Given the description of an element on the screen output the (x, y) to click on. 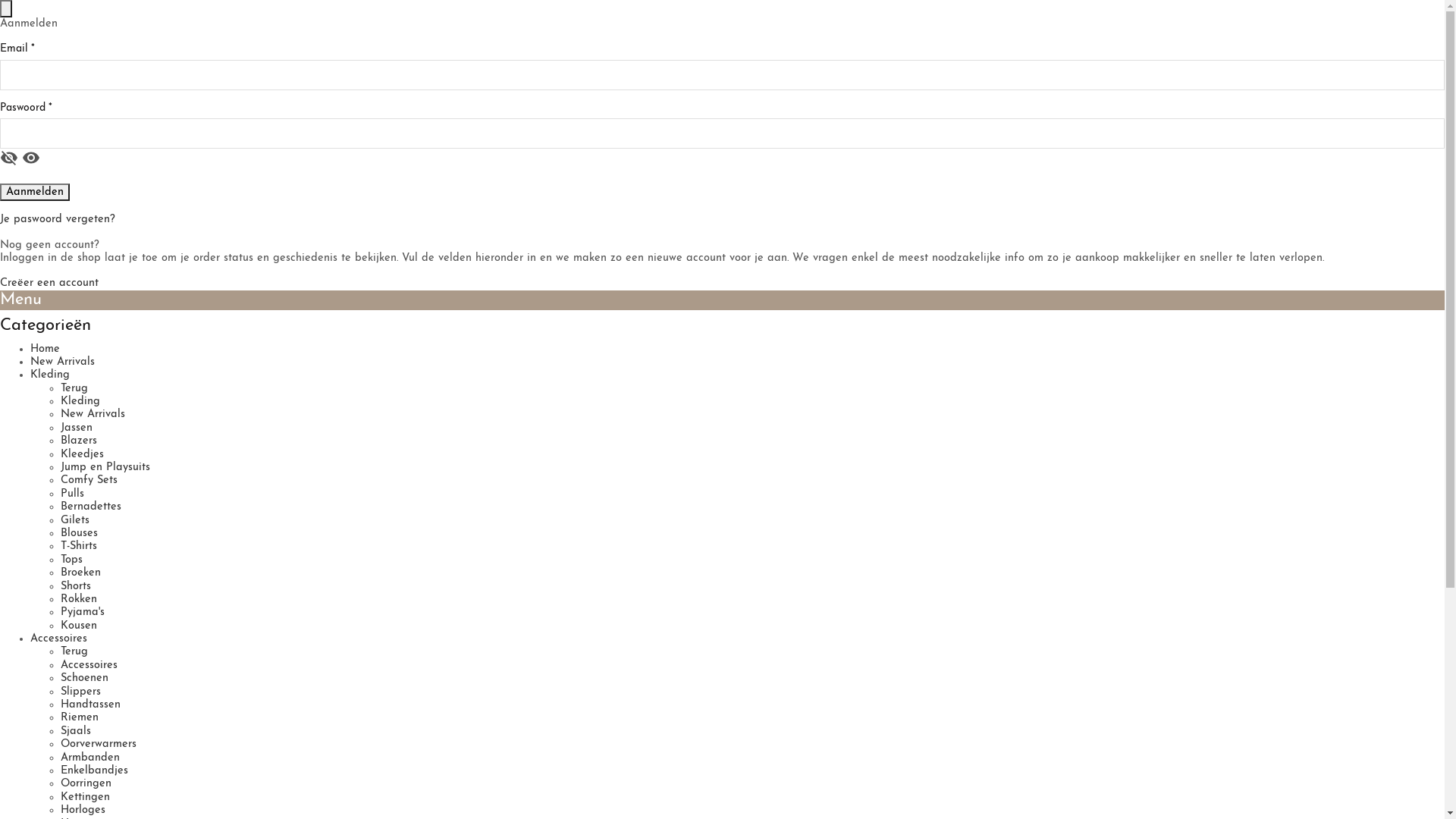
Horloges Element type: text (82, 809)
Handtassen Element type: text (90, 704)
Sjaals Element type: text (75, 731)
Accessoires Element type: text (88, 665)
Armbanden Element type: text (89, 757)
Gilets Element type: text (74, 520)
Accessoires Element type: text (58, 638)
Aanmelden Element type: text (34, 191)
Riemen Element type: text (79, 717)
Slippers Element type: text (80, 691)
Je paswoord vergeten? Element type: text (57, 219)
Rokken Element type: text (78, 599)
Kleedjes Element type: text (81, 454)
Comfy Sets Element type: text (88, 480)
Jassen Element type: text (76, 427)
Kousen Element type: text (78, 625)
Kettingen Element type: text (84, 797)
Kleding Element type: text (49, 374)
Kleding Element type: text (80, 401)
Terug Element type: text (73, 651)
New Arrivals Element type: text (62, 361)
Terug Element type: text (73, 388)
Enkelbandjes Element type: text (94, 770)
Home Element type: text (44, 348)
Tops Element type: text (71, 559)
Schoenen Element type: text (84, 678)
Jump en Playsuits Element type: text (105, 467)
Oorverwarmers Element type: text (98, 743)
Blazers Element type: text (78, 440)
T-Shirts Element type: text (78, 546)
Broeken Element type: text (80, 572)
Pyjama's Element type: text (82, 612)
Shorts Element type: text (75, 586)
New Arrivals Element type: text (92, 414)
Bernadettes Element type: text (90, 506)
Pulls Element type: text (72, 493)
Blouses Element type: text (78, 533)
Oorringen Element type: text (85, 783)
